Given the description of an element on the screen output the (x, y) to click on. 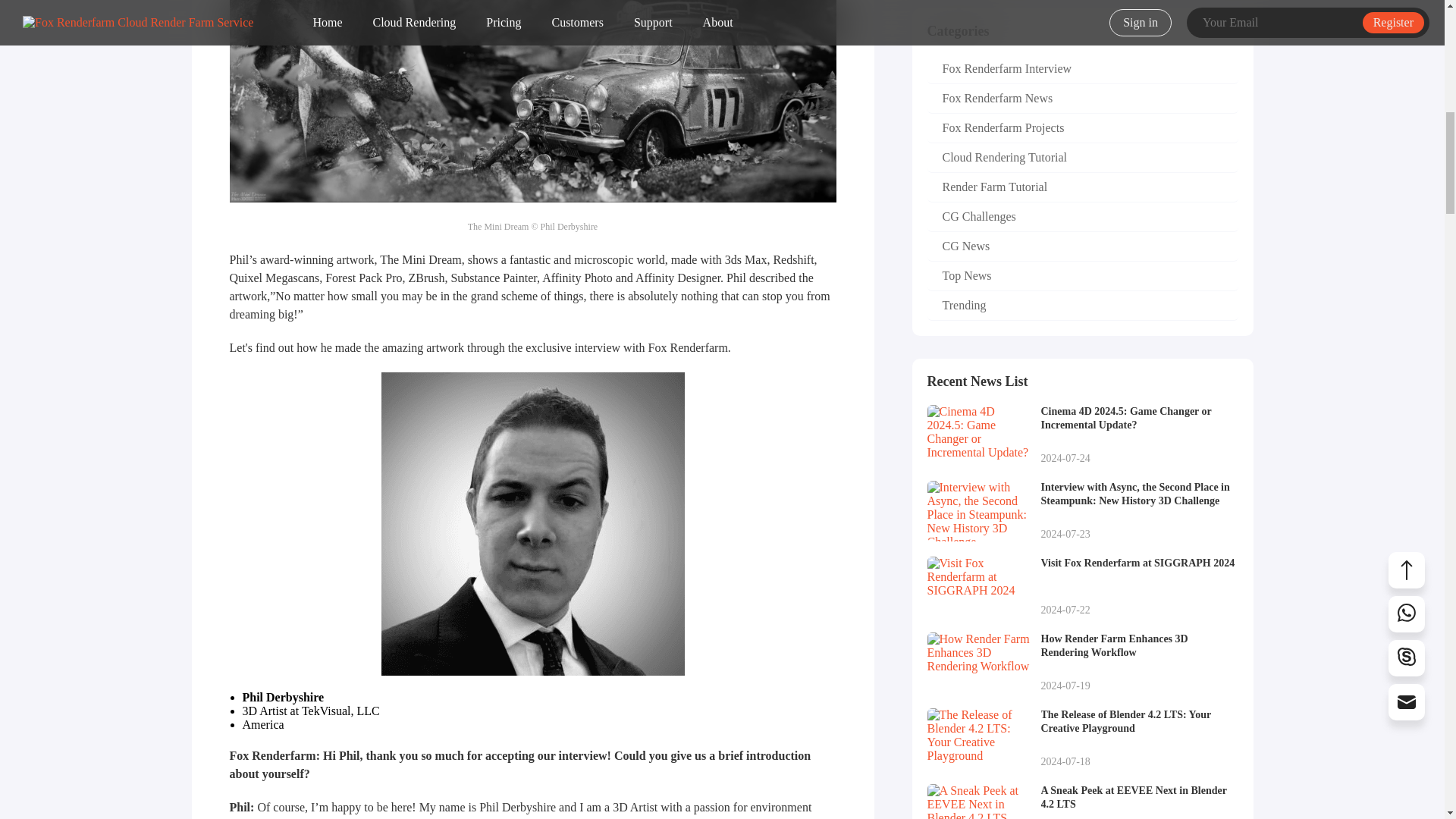
Cloud Rendering Tutorial (1081, 157)
Top News (1081, 276)
Fox Renderfarm Interview (1081, 69)
Fox Renderfarm Projects (1081, 128)
Trending (1081, 586)
CG Challenges (1081, 306)
Fox Renderfarm News (1081, 216)
CG News (1081, 98)
Render Farm Tutorial (1081, 246)
